Given the description of an element on the screen output the (x, y) to click on. 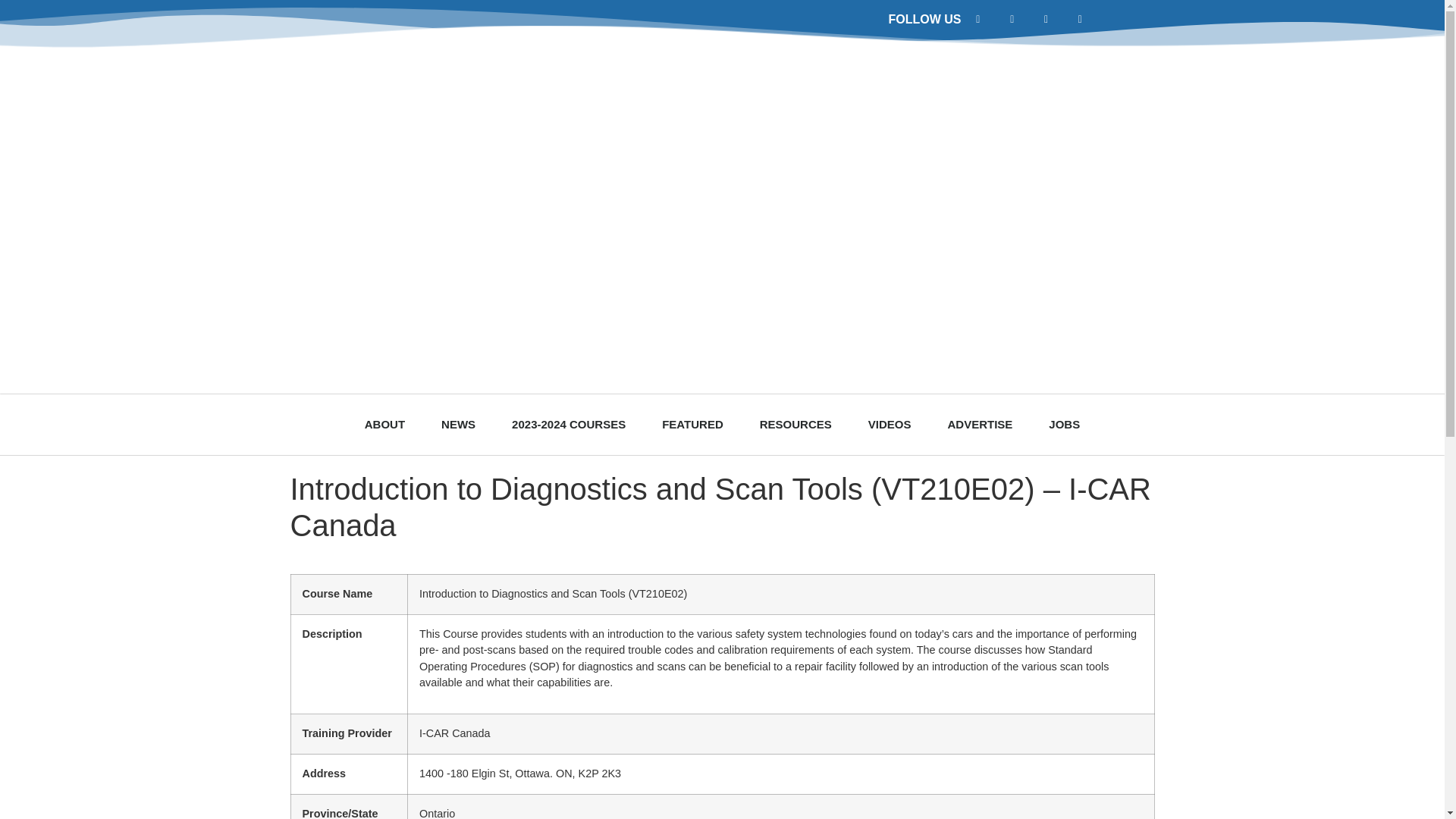
JOBS (1063, 424)
RESOURCES (795, 424)
FEATURED (692, 424)
ABOUT (384, 424)
2023-2024 COURSES (568, 424)
NEWS (458, 424)
VIDEOS (890, 424)
ADVERTISE (979, 424)
